Given the description of an element on the screen output the (x, y) to click on. 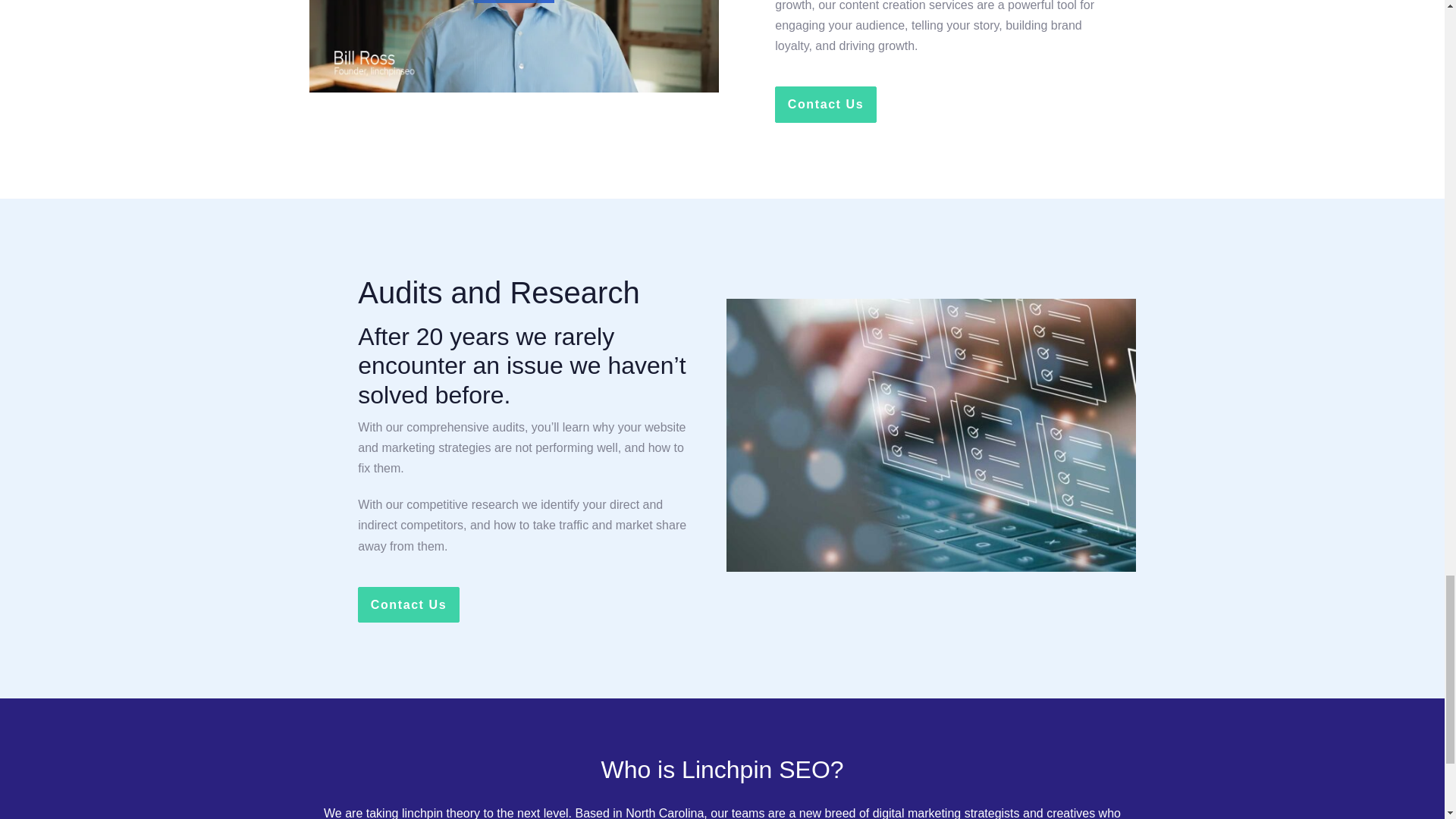
Contact Us (825, 104)
Contact Us (408, 604)
